Given the description of an element on the screen output the (x, y) to click on. 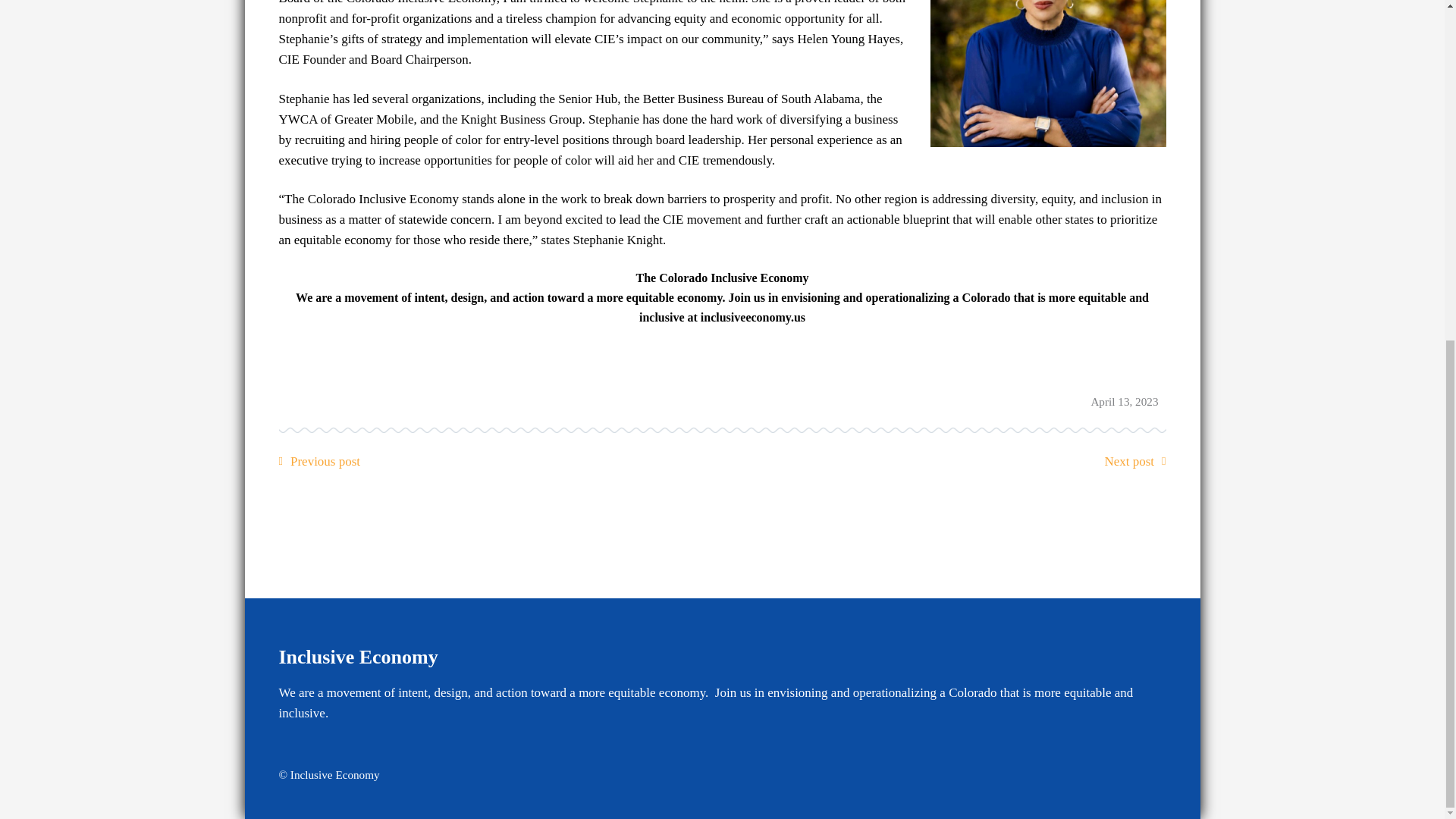
Next post (1128, 461)
Previous post (324, 461)
Donation Activity Popup (158, 198)
